Given the description of an element on the screen output the (x, y) to click on. 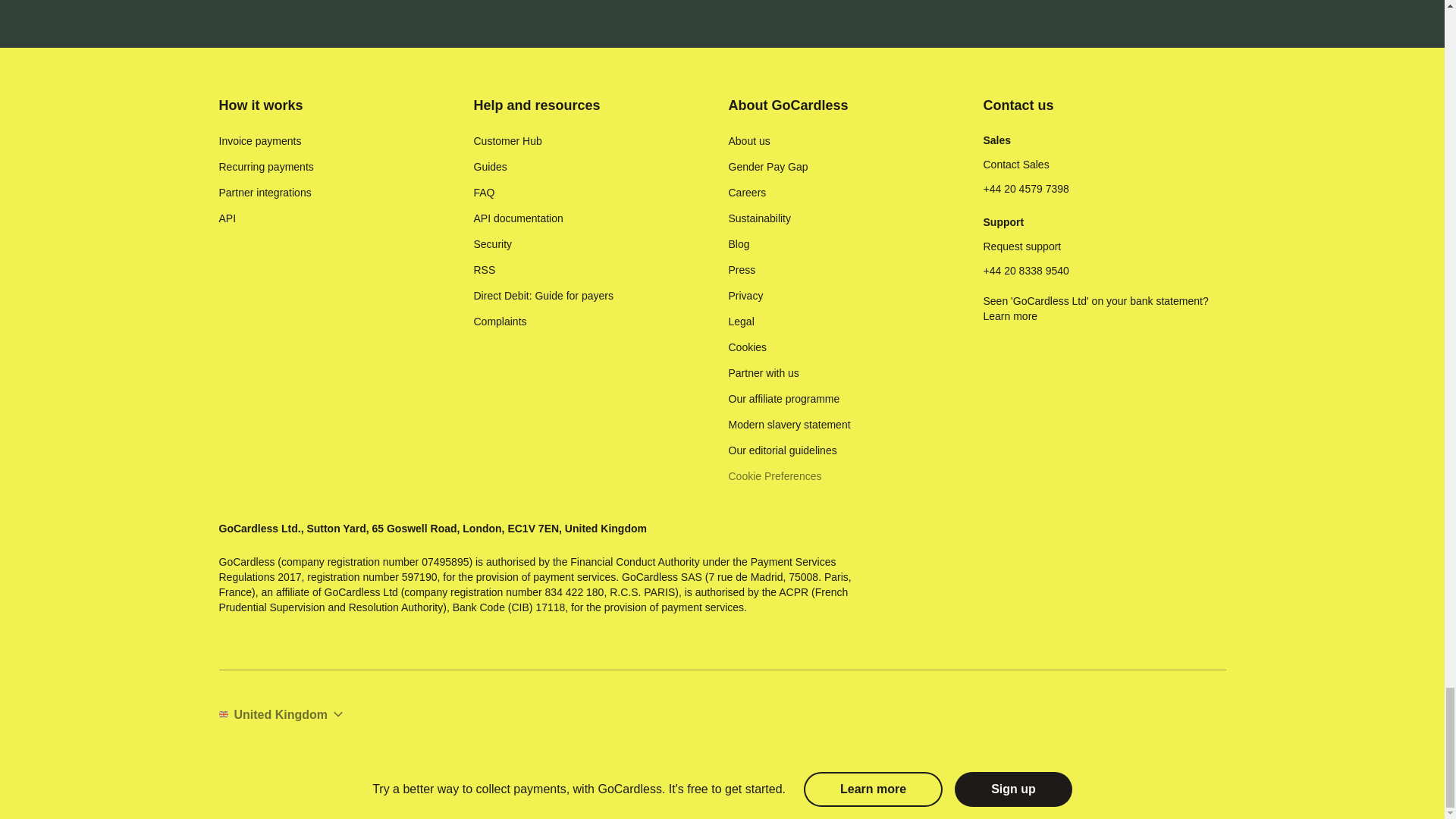
About us (749, 140)
Sustainability (759, 218)
Gender Pay Gap (768, 166)
Partner integrations (264, 192)
RSS (484, 269)
Complaints (499, 321)
Blog (738, 243)
Customer Hub (507, 140)
Guides (489, 166)
Security (492, 243)
Press (741, 269)
API (226, 218)
FAQ (484, 192)
Recurring payments (265, 166)
API documentation (517, 218)
